Given the description of an element on the screen output the (x, y) to click on. 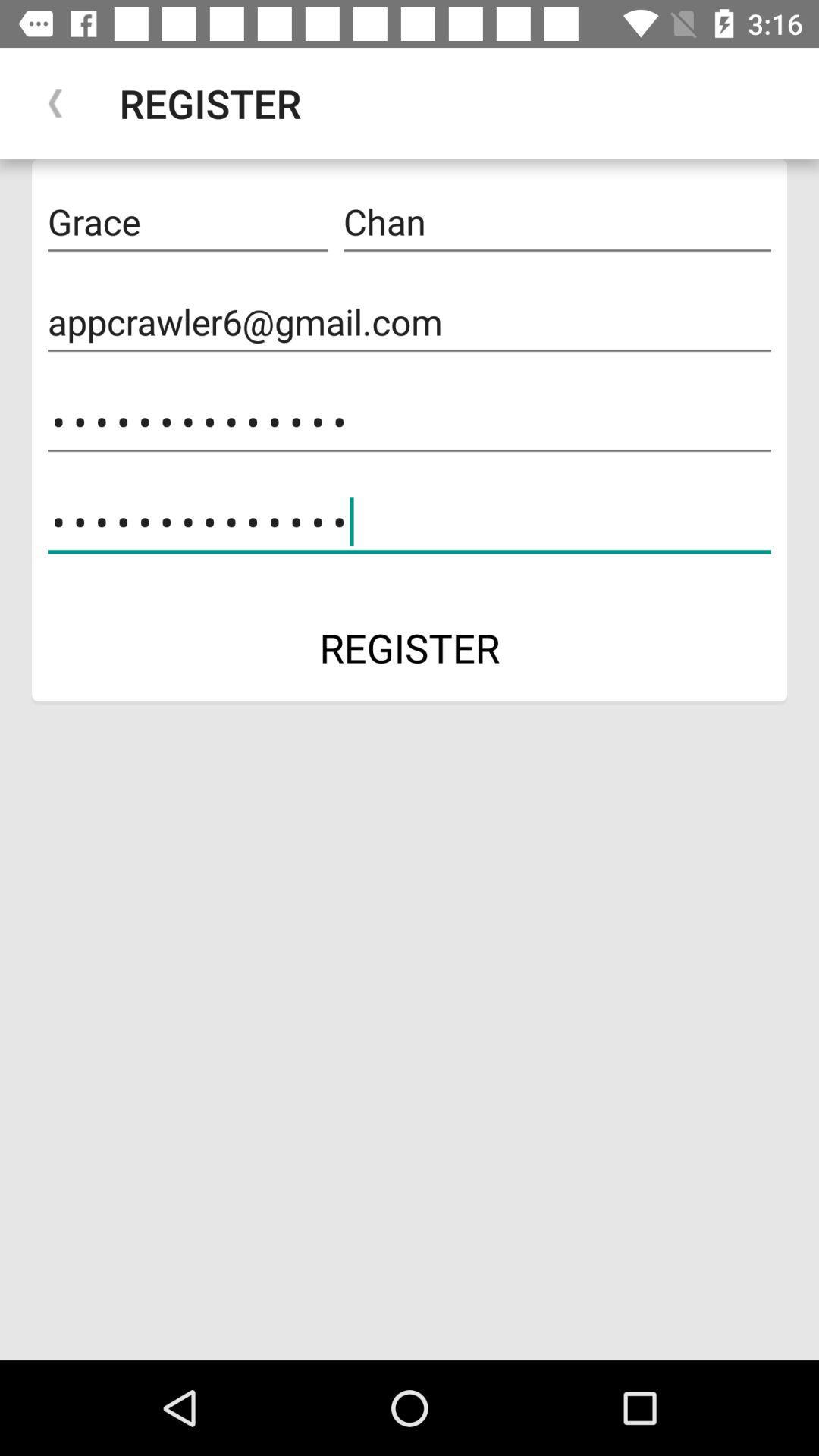
launch icon above appcrawler3116 icon (409, 322)
